Given the description of an element on the screen output the (x, y) to click on. 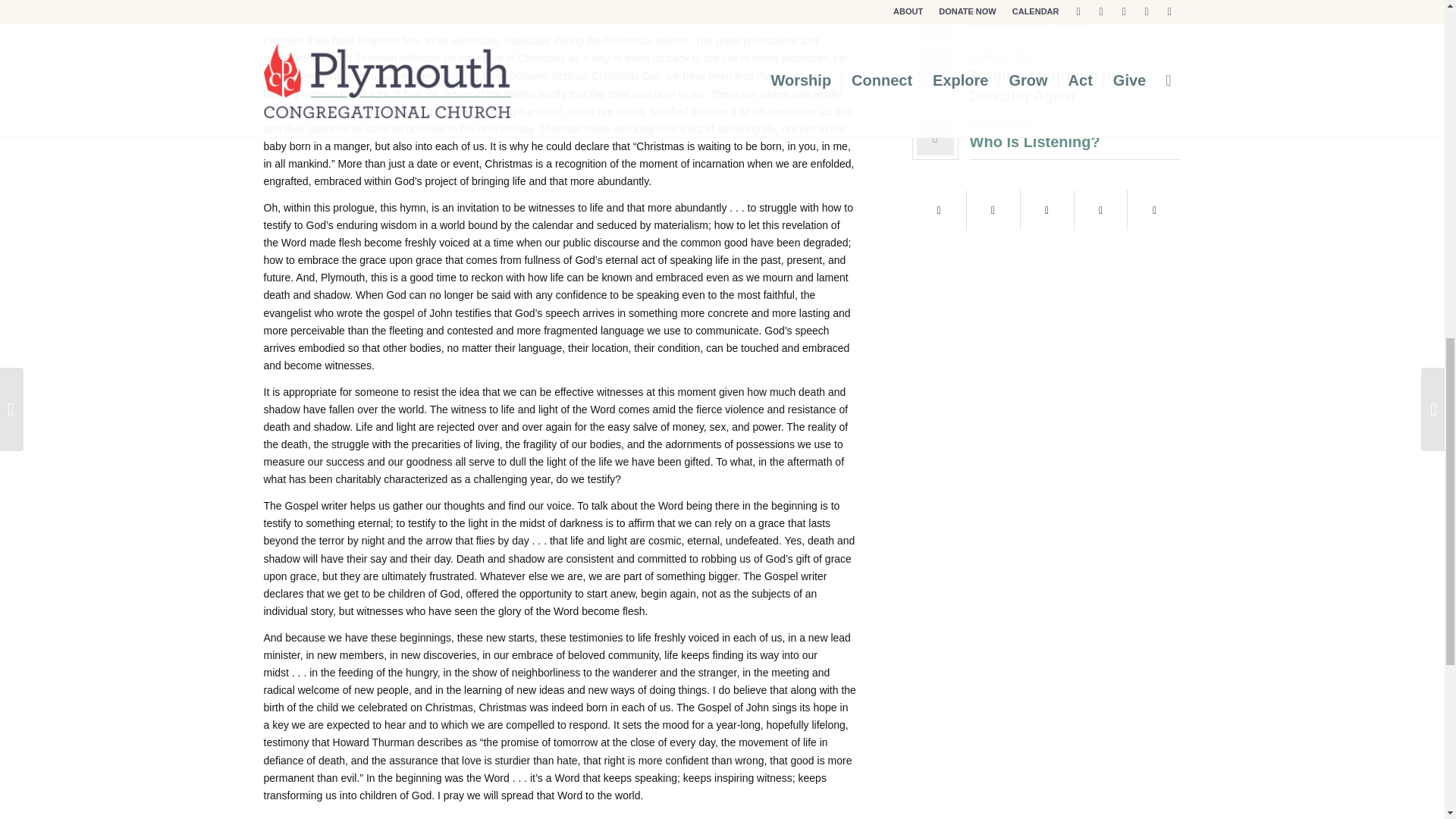
Link to: Turning Mourning into Dancing Again (935, 70)
Link to: Communal Grief (935, 18)
Link to: Communal Grief (1028, 21)
Who Is Listening? (1034, 141)
Turning Mourning into Dancing Again (1050, 85)
Communal Grief (1028, 21)
